Given the description of an element on the screen output the (x, y) to click on. 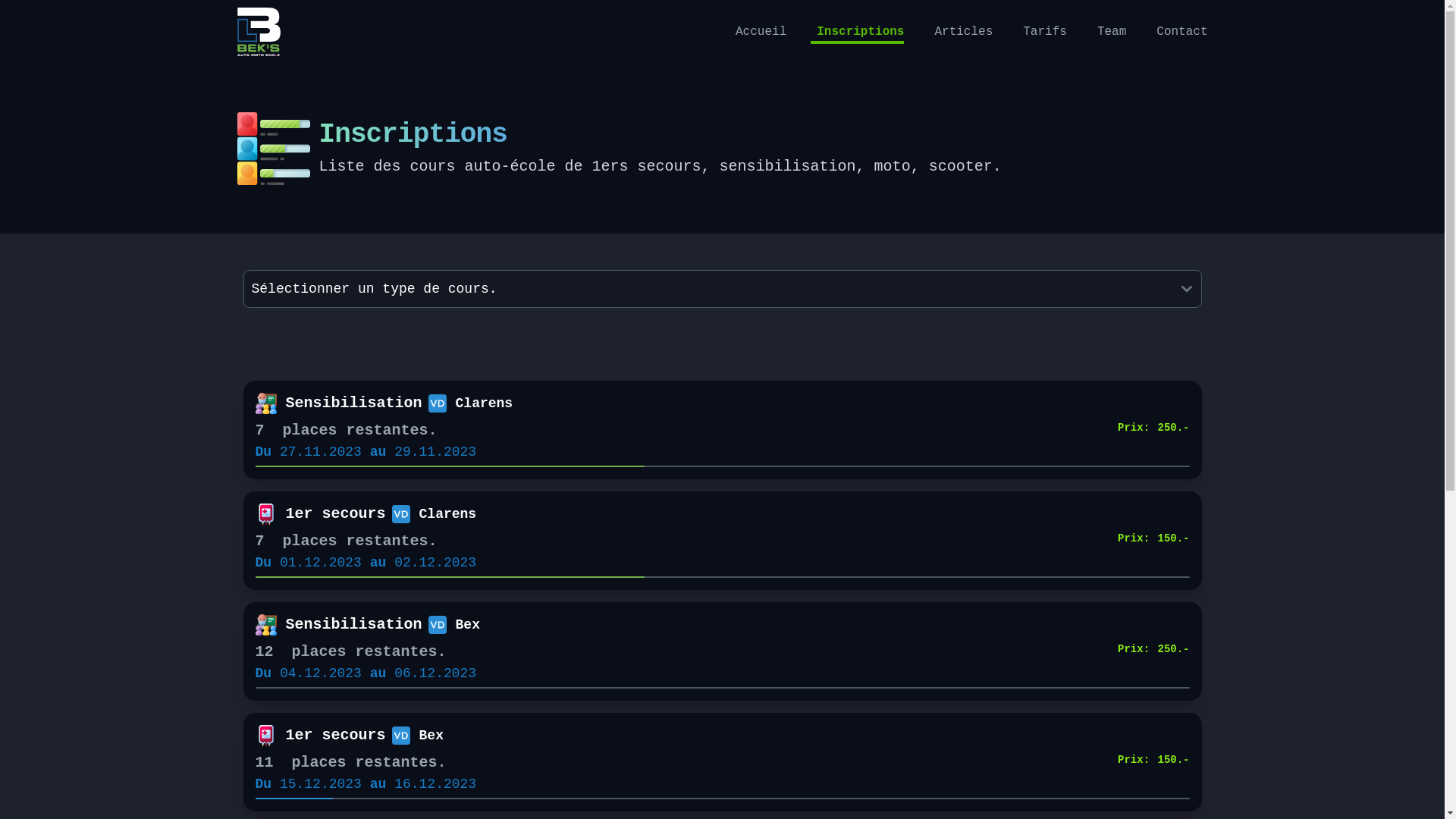
Team Element type: text (1108, 29)
Fermer Element type: text (721, 469)
Articles Element type: text (960, 29)
Contact Element type: text (1178, 29)
Tarifs Element type: text (1041, 29)
Inscriptions Element type: text (856, 31)
Accueil Element type: text (757, 29)
